Given the description of an element on the screen output the (x, y) to click on. 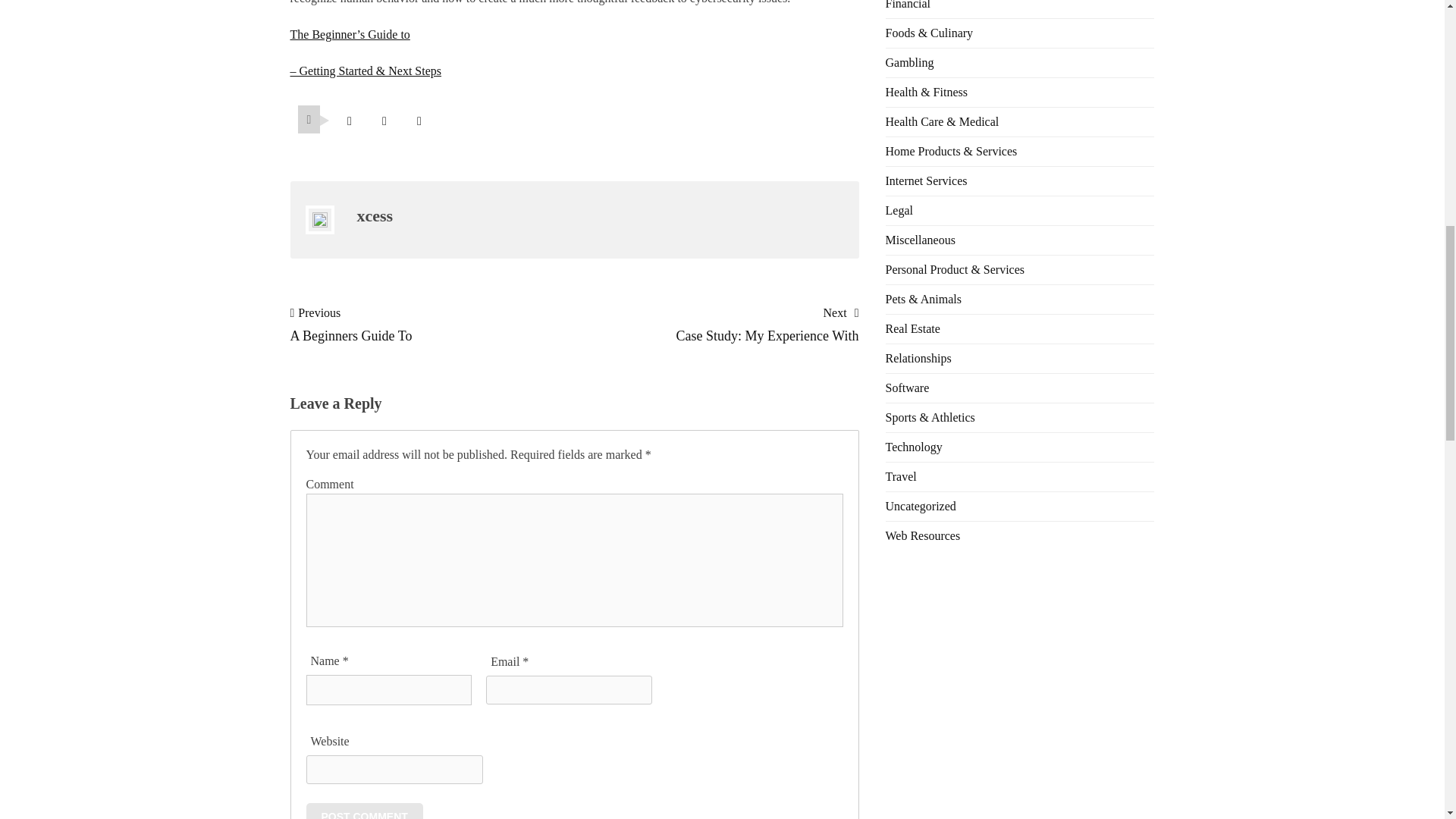
Post Comment (364, 811)
Real Estate (912, 328)
Miscellaneous (920, 239)
Gambling (909, 62)
Financial (908, 4)
Tweet This! (349, 120)
Share on Linkedin (419, 120)
Internet Services (926, 180)
Share on Facebook (384, 120)
Legal (898, 210)
